Given the description of an element on the screen output the (x, y) to click on. 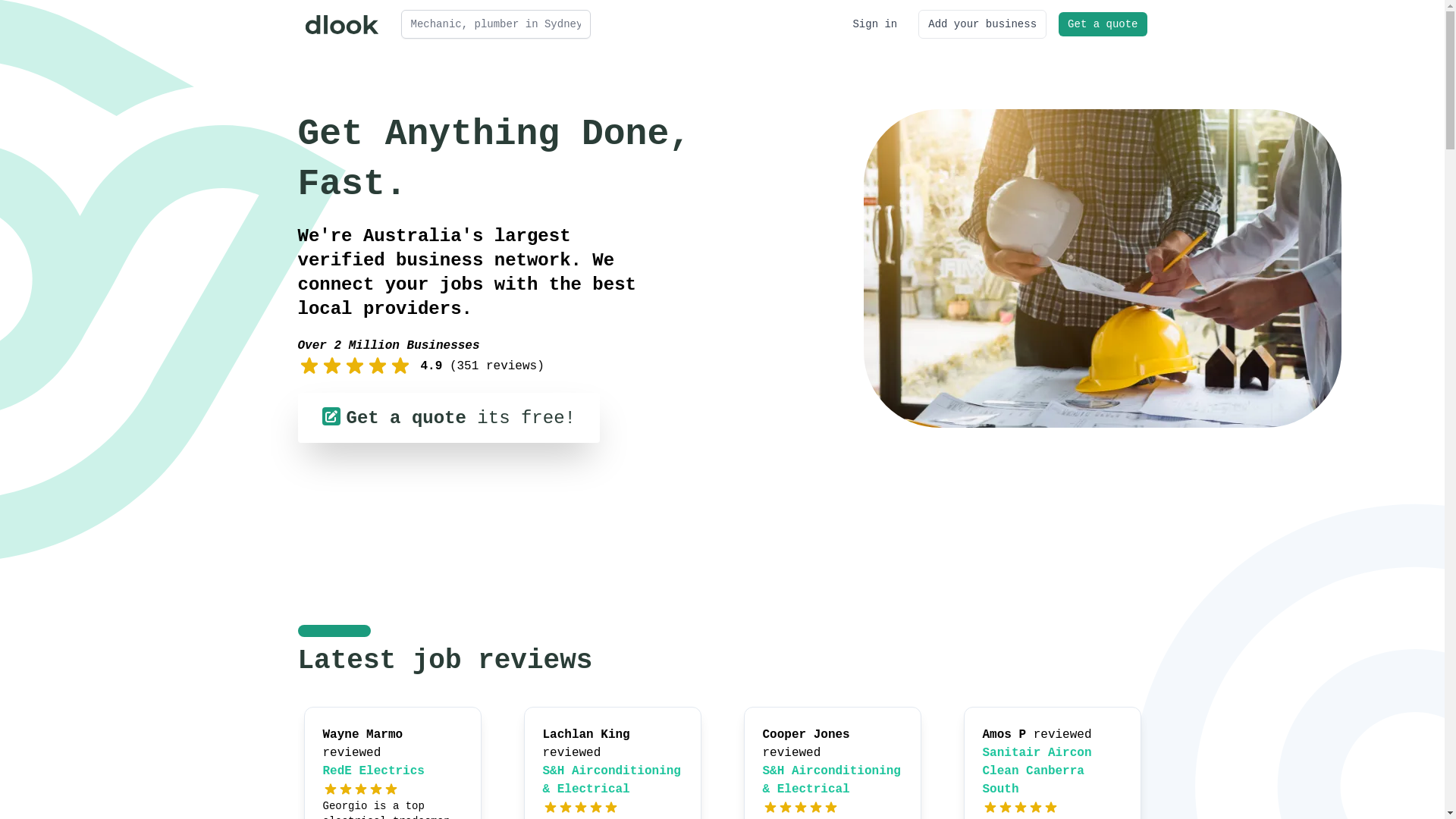
Sign in Element type: text (874, 23)
Add your business Element type: text (982, 23)
S&H Airconditioning & Electrical Element type: text (831, 780)
Get a quote its free! Element type: text (448, 417)
S&H Airconditioning & Electrical Element type: text (611, 780)
RedE Electrics Element type: text (373, 771)
Get a quote Element type: text (1102, 24)
Sanitair Aircon Clean Canberra South Element type: text (1037, 771)
